Given the description of an element on the screen output the (x, y) to click on. 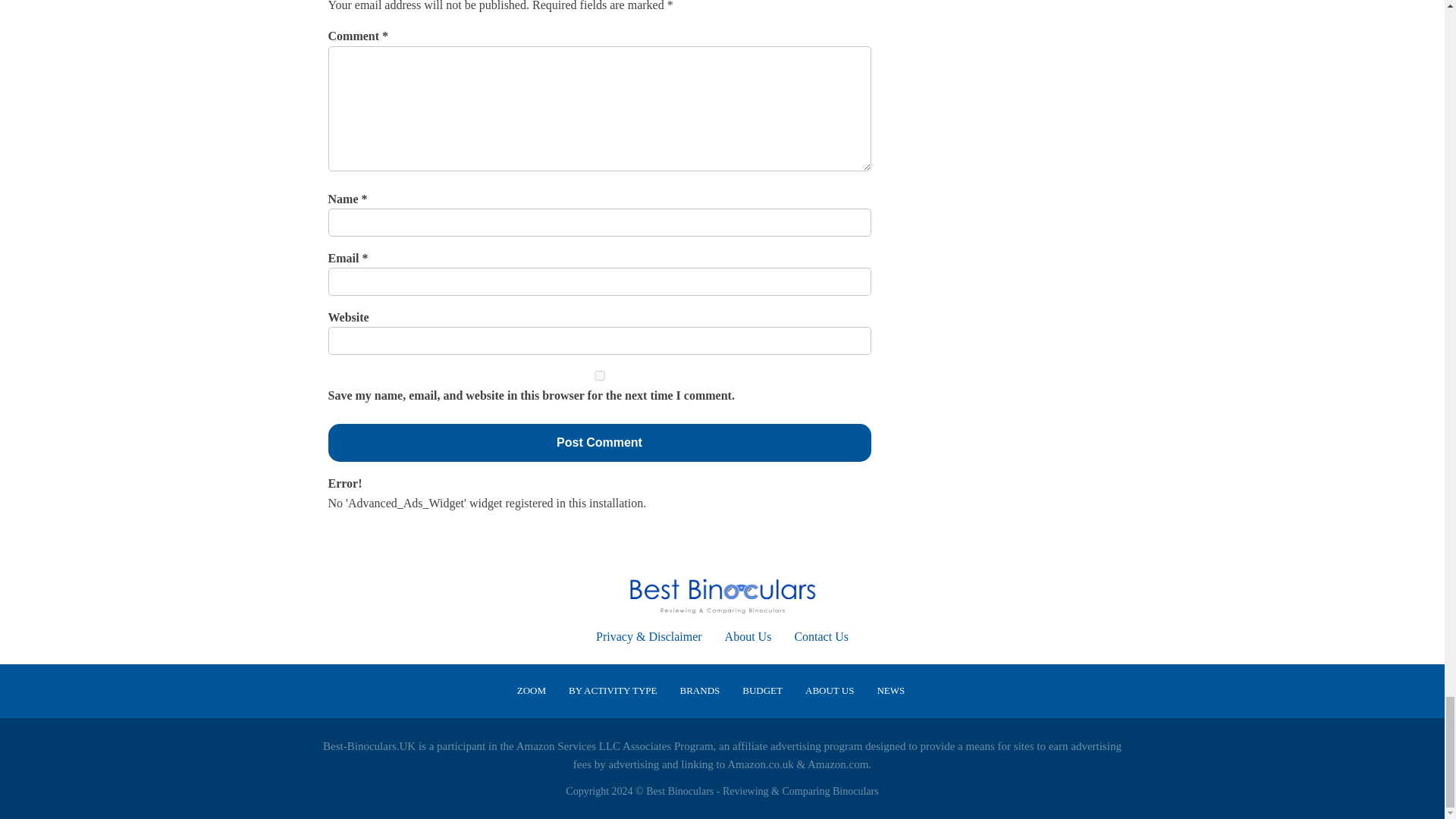
yes (598, 375)
Post Comment (598, 442)
